Given the description of an element on the screen output the (x, y) to click on. 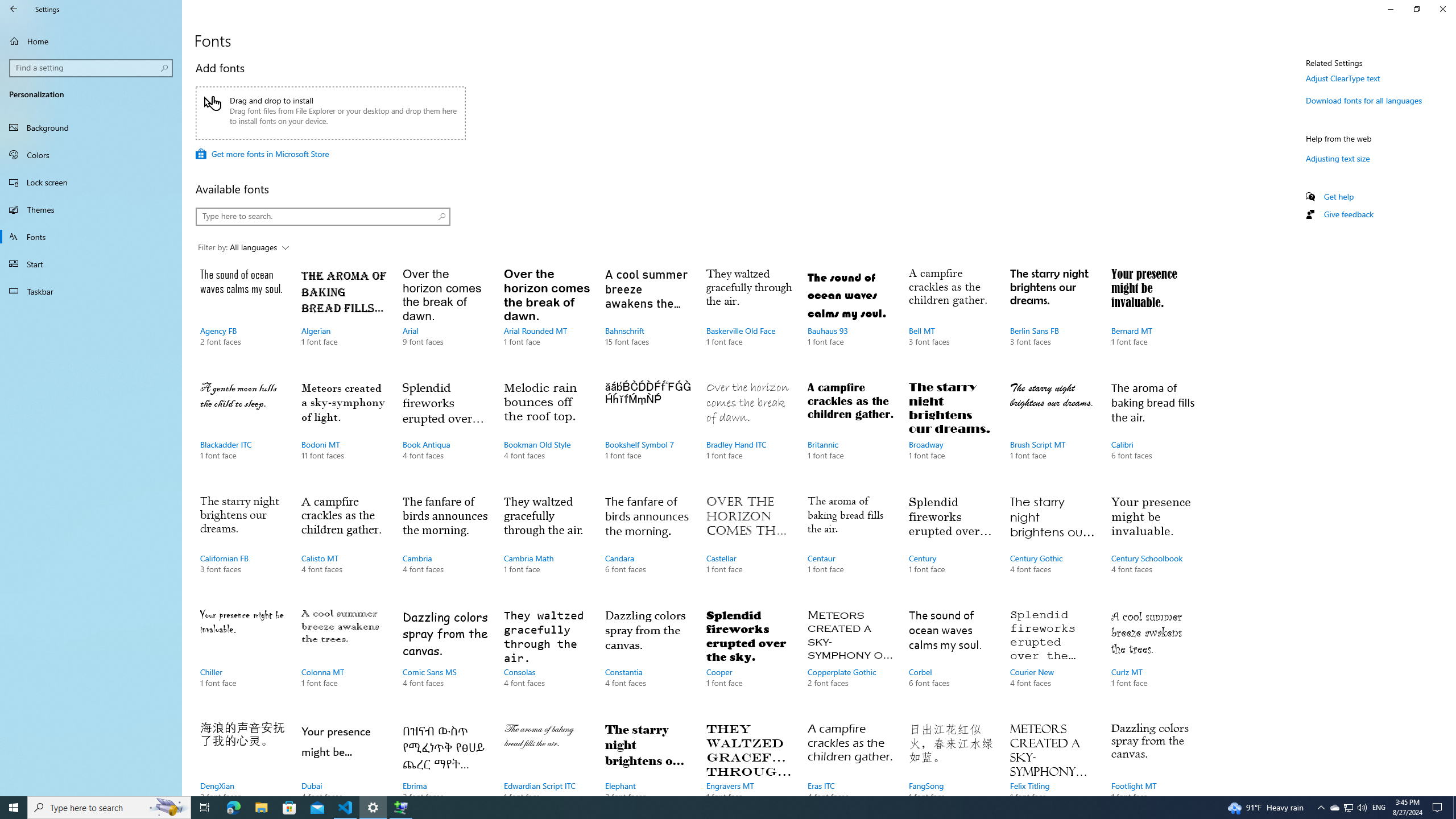
Courier New, 4 font faces (1052, 659)
Get help (1338, 196)
Download fonts for all languages (1364, 100)
Footlight MT, 1 font face (1153, 756)
Broadway, 1 font face (951, 431)
Colors (91, 154)
Background (91, 126)
Home (91, 40)
Calisto MT, 4 font faces (343, 545)
Bookshelf Symbol 7, 1 font face (647, 431)
Bell MT, 3 font faces (951, 318)
Elephant, 2 font faces (647, 756)
Taskbar (91, 290)
